Given the description of an element on the screen output the (x, y) to click on. 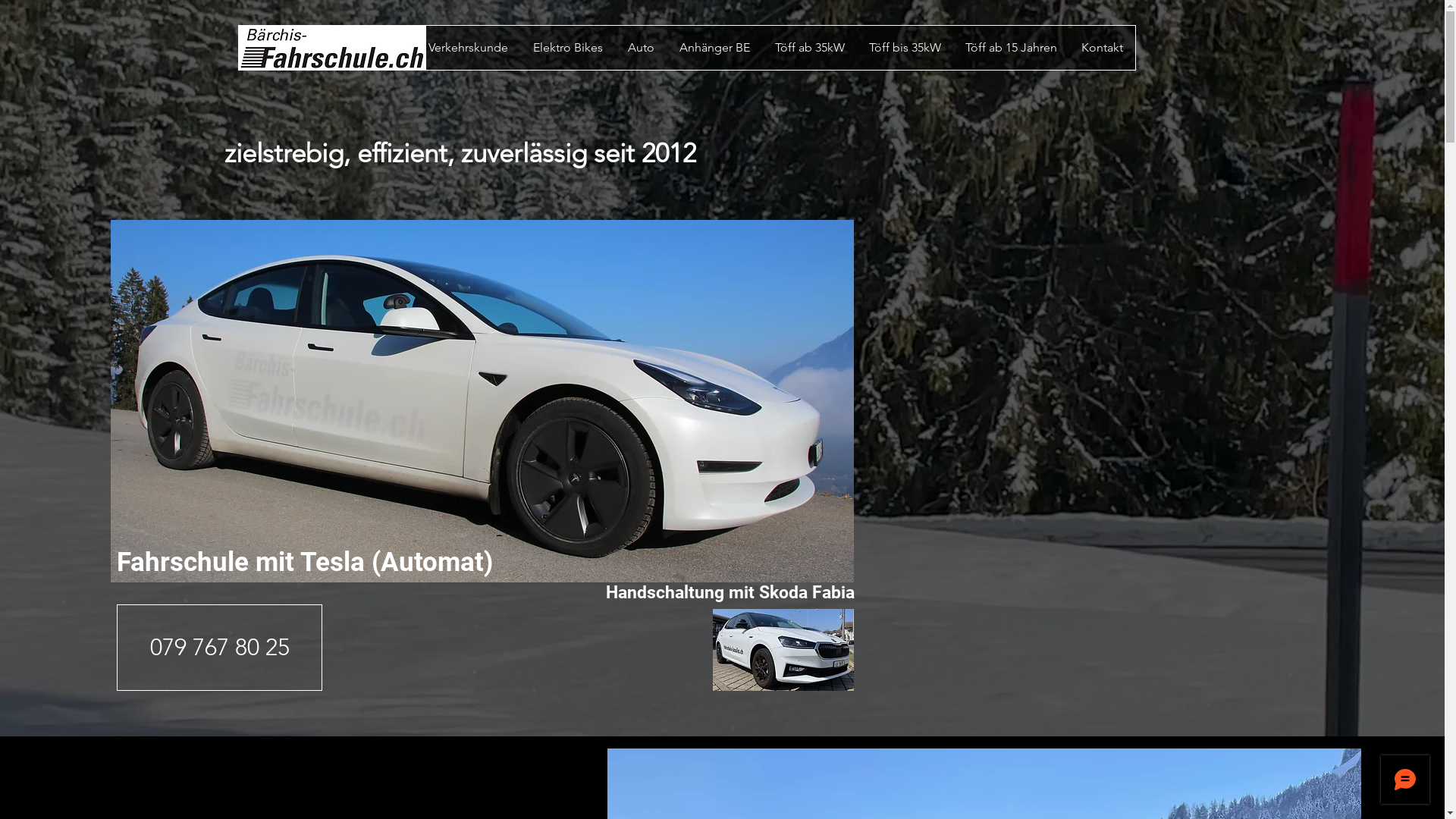
Foto Skoda_edited.jpg Element type: hover (782, 649)
Verkehrskunde Element type: text (467, 47)
Kontakt Element type: text (1102, 47)
Auto Element type: text (639, 47)
Elektro Bikes Element type: text (567, 47)
079 767 80 25 Element type: text (219, 647)
